Given the description of an element on the screen output the (x, y) to click on. 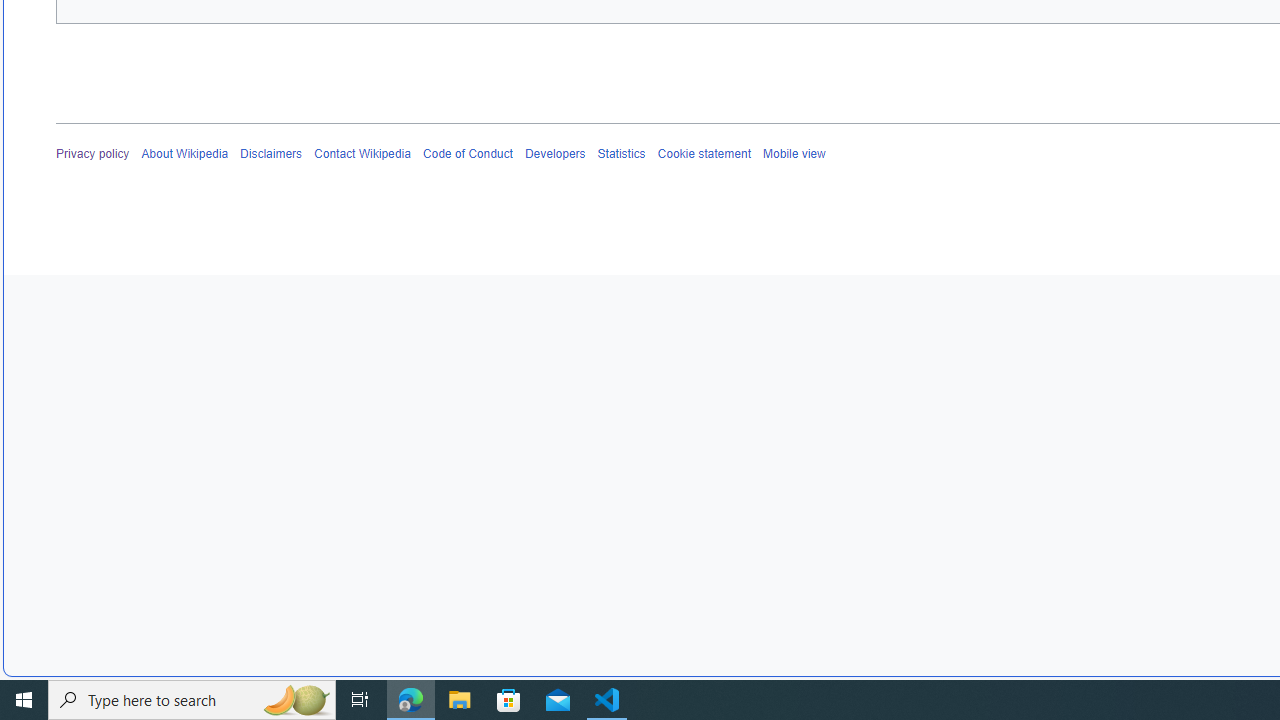
Mobile view (793, 154)
Disclaimers (271, 154)
About Wikipedia (184, 154)
Mobile view (793, 154)
